Given the description of an element on the screen output the (x, y) to click on. 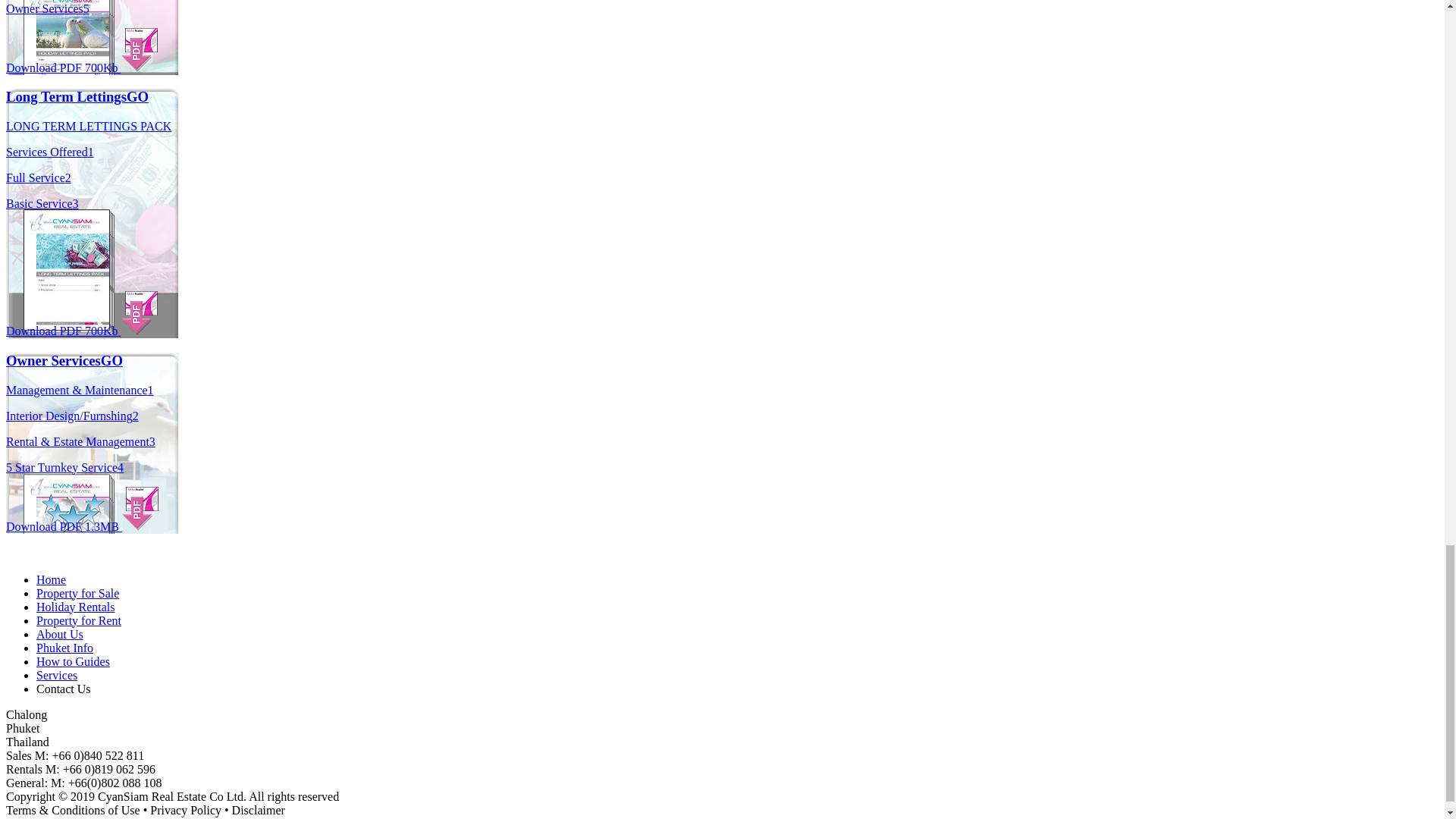
Download PDF 700Kb (81, 67)
Owner Services5 (46, 8)
